Given the description of an element on the screen output the (x, y) to click on. 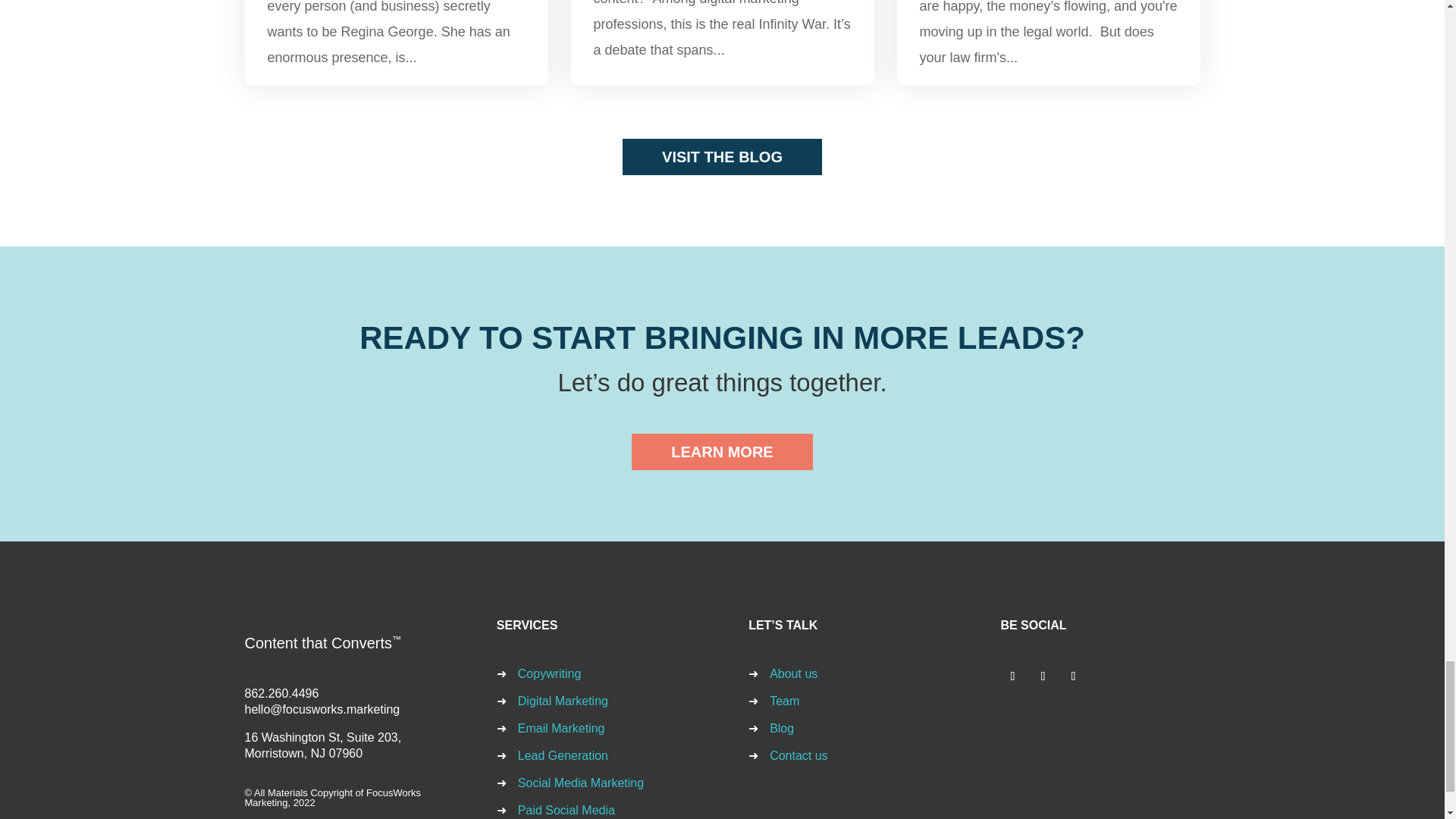
Digital Marketing (563, 700)
VISIT THE BLOG (722, 156)
862.260.4496 (281, 693)
LEARN MORE (721, 452)
About us (793, 673)
Social Media Marketing (580, 782)
Follow on Facebook (1072, 676)
Lead Generation (563, 755)
Copywriting (549, 673)
Email Marketing (561, 727)
Follow on LinkedIn (1012, 676)
Paid Social Media (566, 809)
Follow on Instagram (1042, 676)
